Given the description of an element on the screen output the (x, y) to click on. 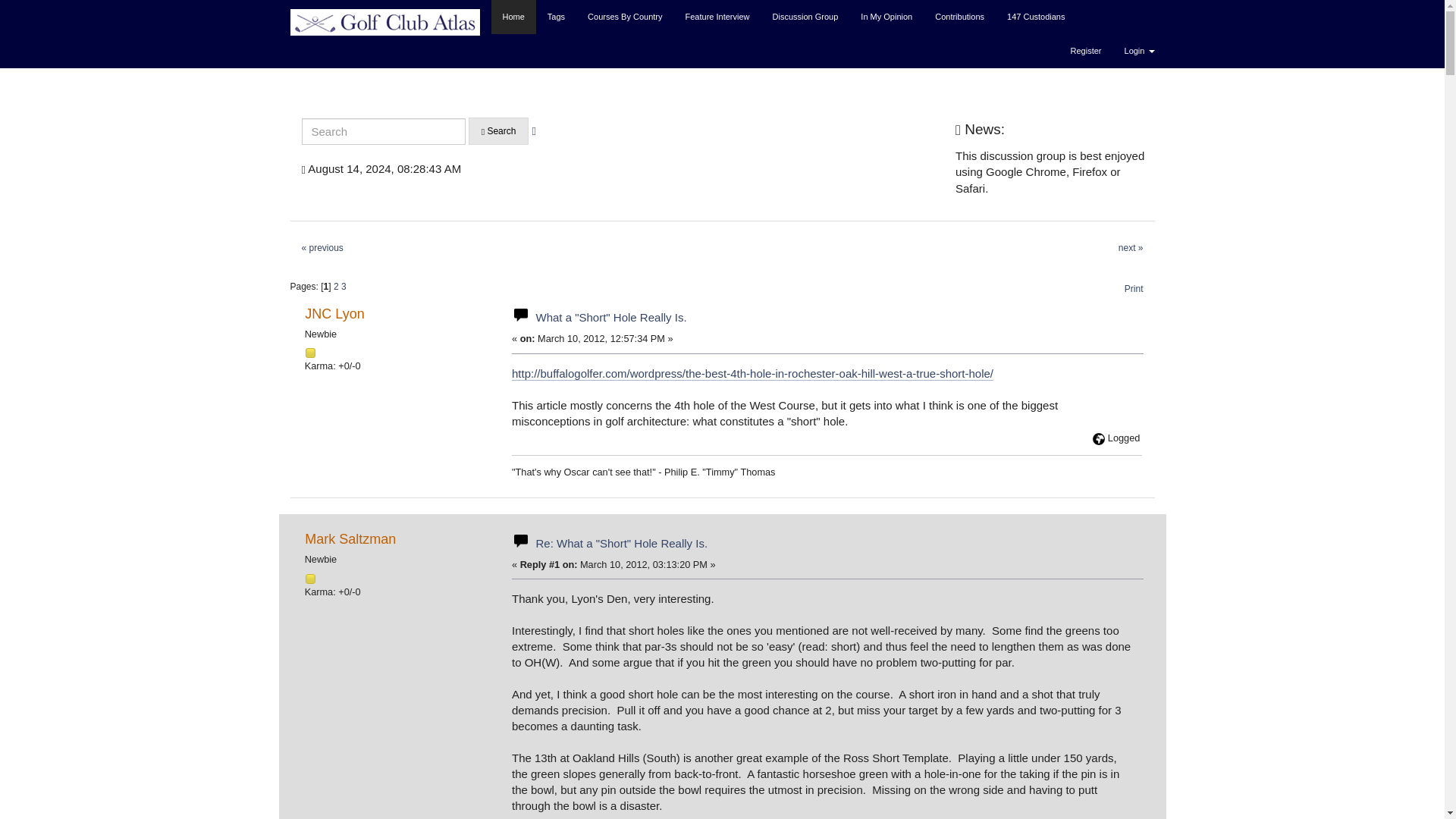
147 Custodians (1035, 17)
Login (1139, 50)
Discussion Group (805, 17)
Courses By Country (624, 17)
Home (513, 17)
What a "Short" Hole Really Is. (610, 317)
Register (1086, 50)
Contributions (959, 17)
Search (498, 130)
Print (1133, 289)
